Given the description of an element on the screen output the (x, y) to click on. 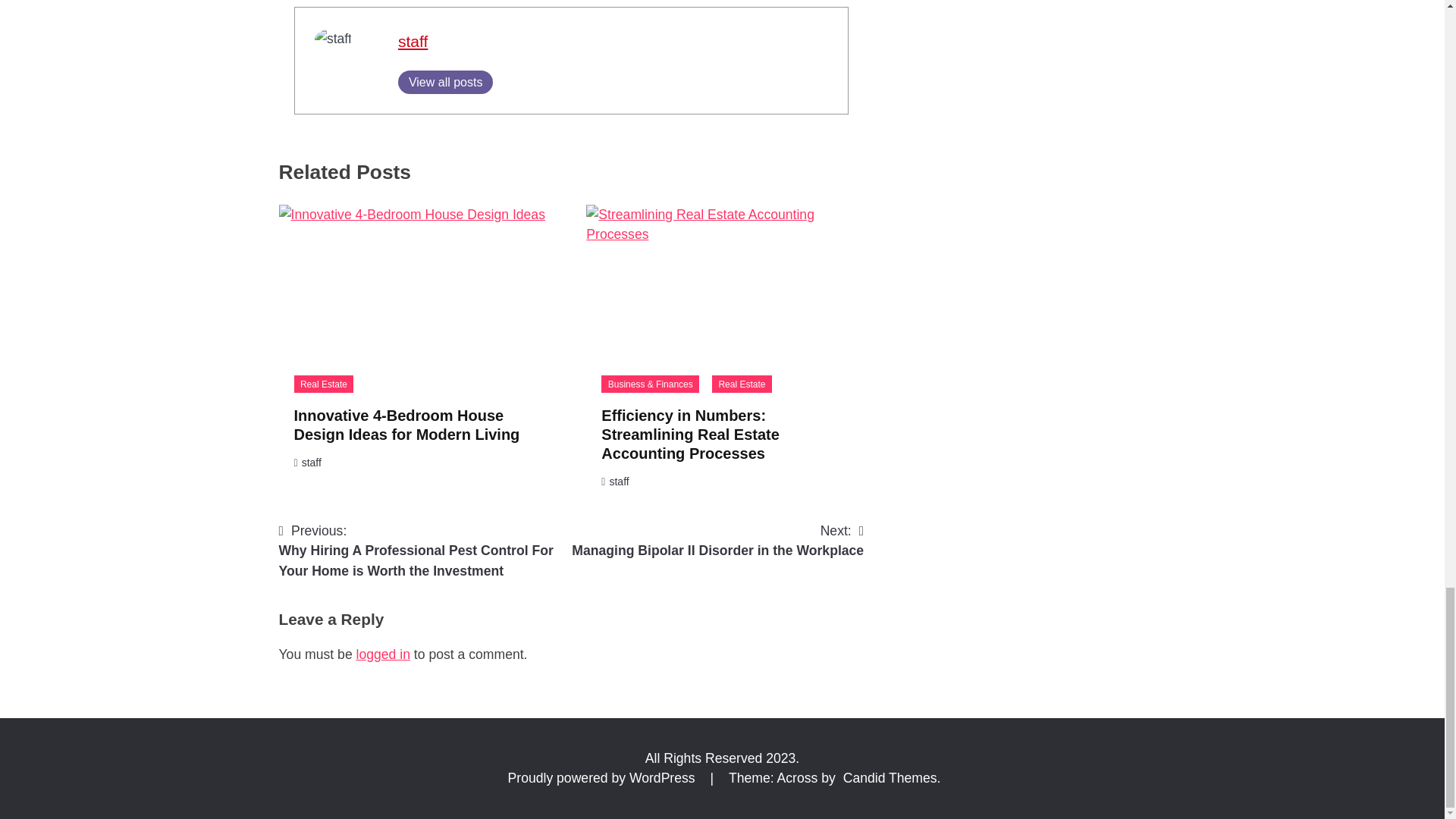
staff (412, 40)
staff (618, 481)
View all posts (445, 82)
Real Estate (741, 384)
Innovative 4-Bedroom House Design Ideas for Modern Living (406, 425)
staff (412, 40)
View all posts (717, 540)
Real Estate (445, 82)
staff (323, 384)
